Given the description of an element on the screen output the (x, y) to click on. 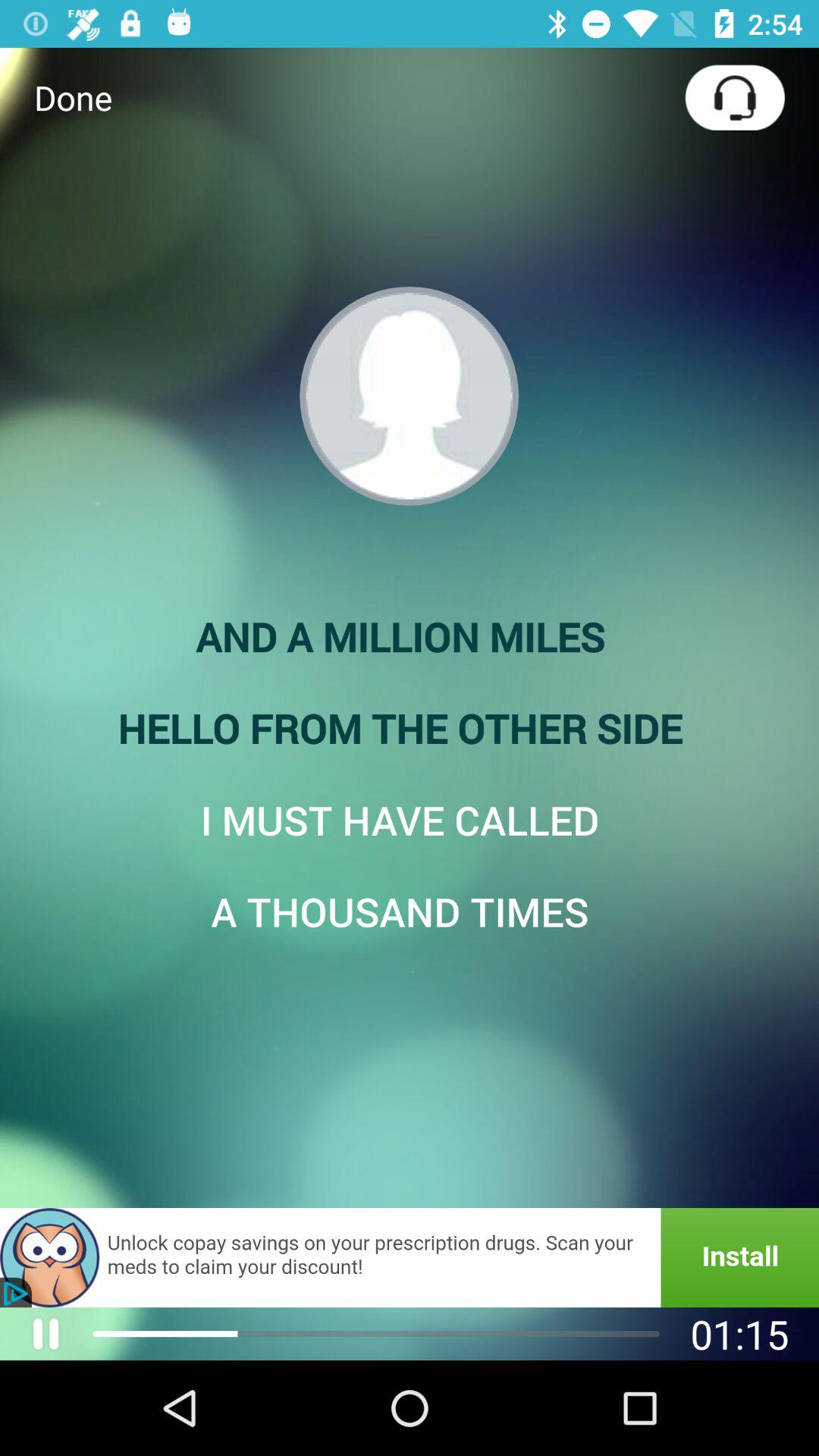
flip to the done item (72, 97)
